Given the description of an element on the screen output the (x, y) to click on. 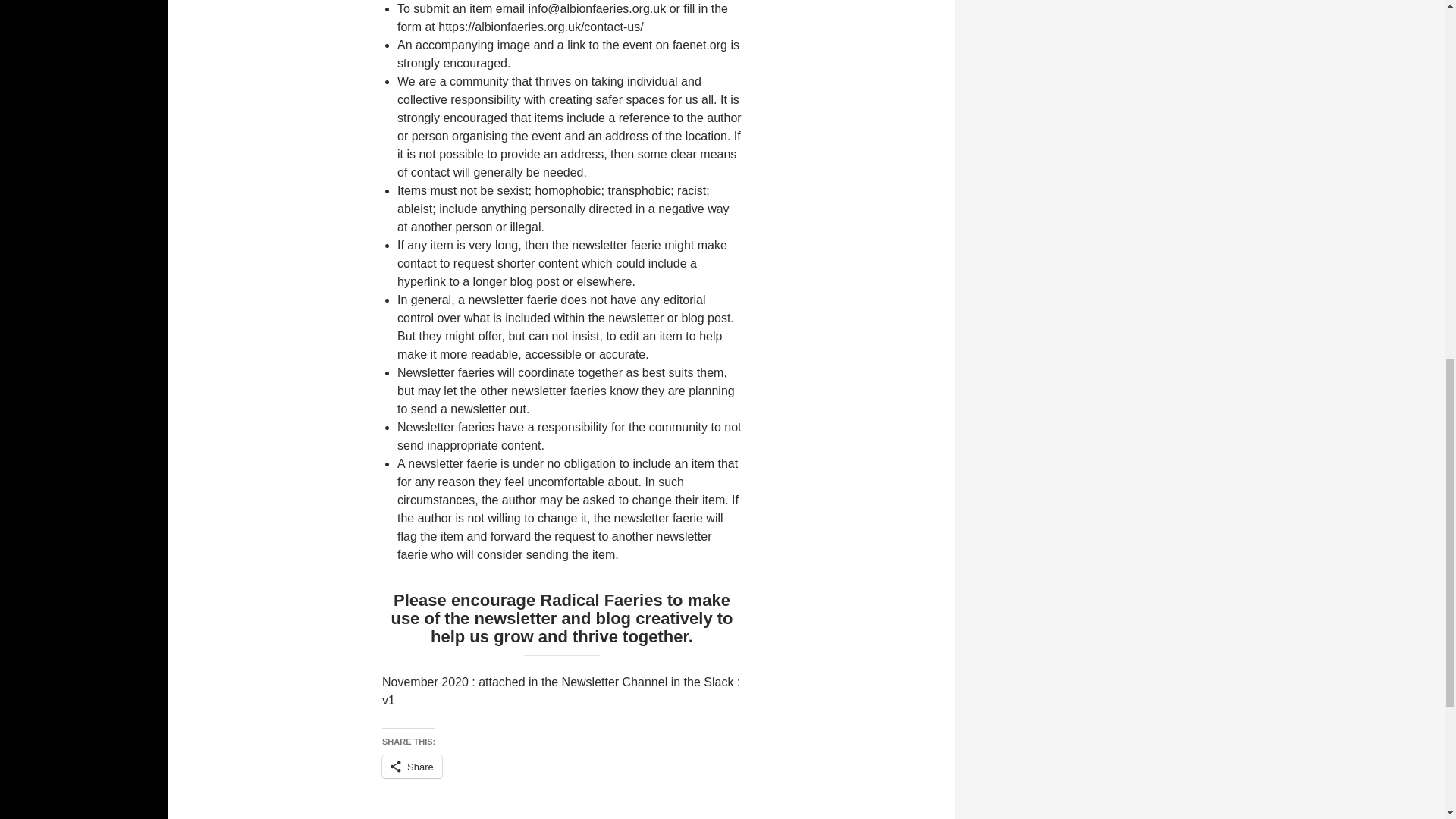
Share (411, 766)
